Given the description of an element on the screen output the (x, y) to click on. 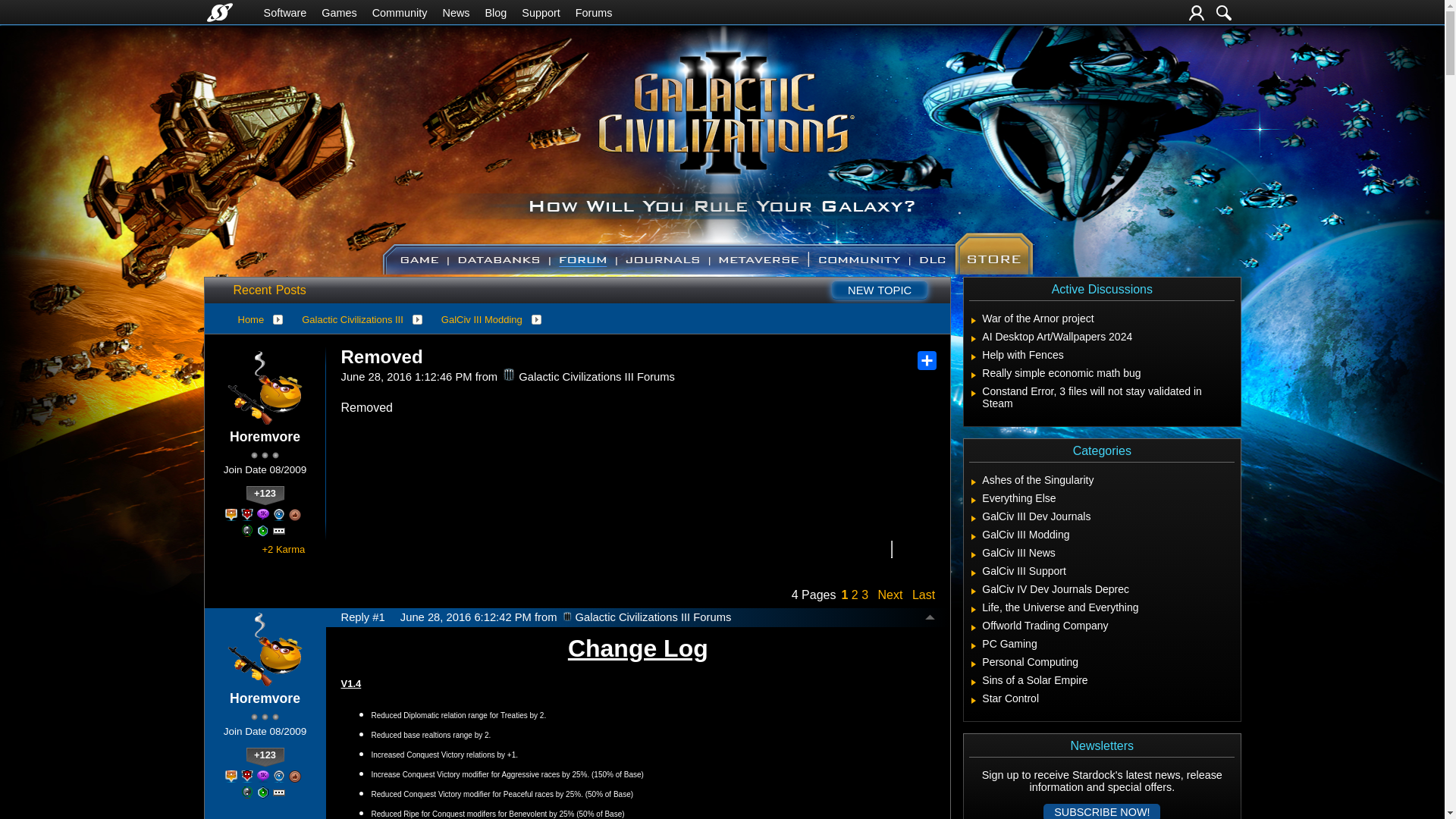
Removed (381, 356)
Aura - Gave 5 Karma (247, 530)
Login or Create Account (1196, 11)
Super Active Commenter - Replied over 1,000 times (263, 514)
Galactic Civilizations III Forums (508, 374)
Rank: 3 (264, 455)
Stardock Home (218, 12)
View all awards (279, 530)
Novice Poster - Created 5 Posts (263, 530)
View Horemvore's Karma (264, 496)
Loved - Received 100 Total Karma (294, 514)
Search this post (876, 548)
